Given the description of an element on the screen output the (x, y) to click on. 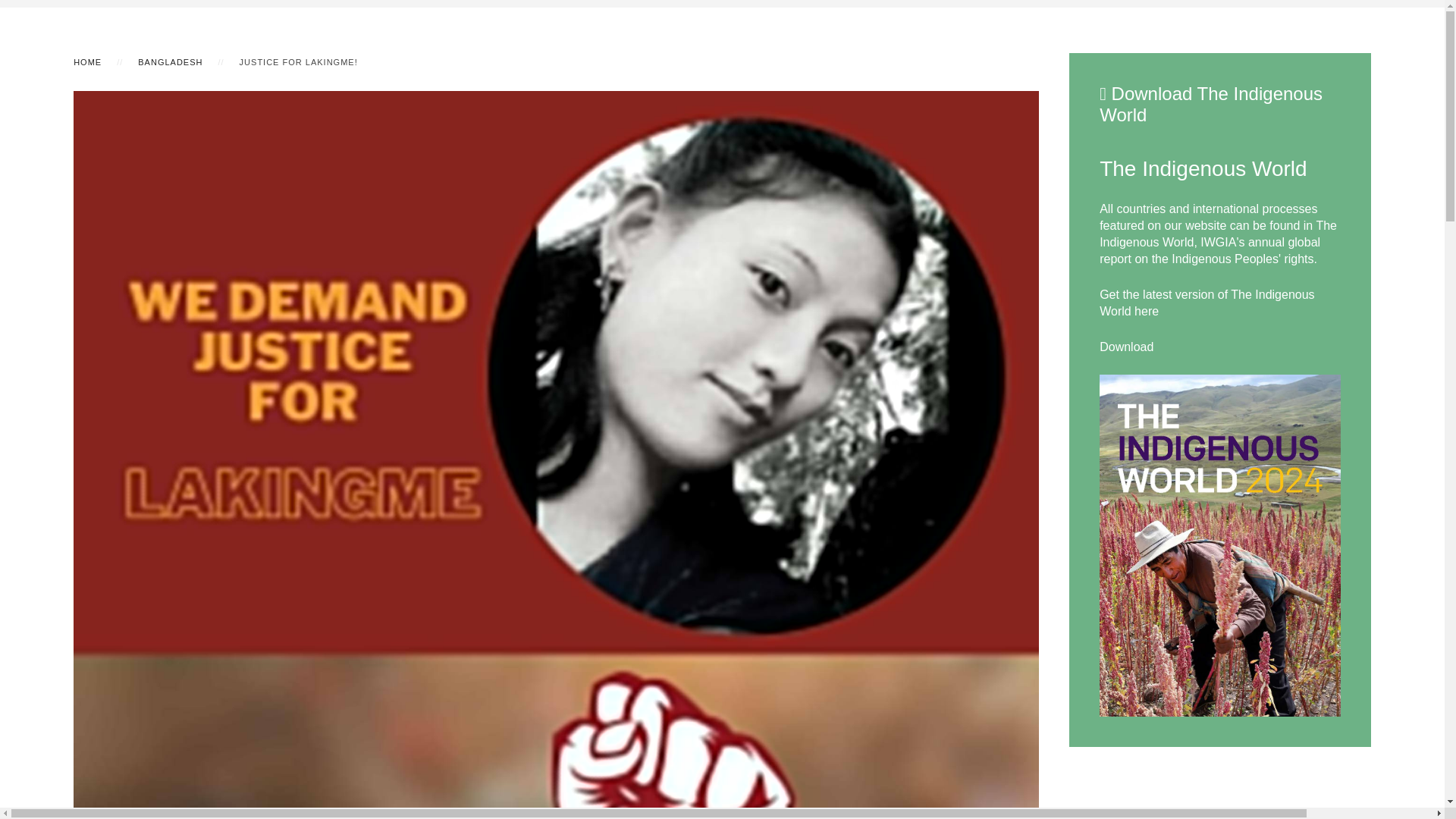
FOCUS AREAS (585, 68)
BANGLADESH (170, 62)
EN (1295, 72)
RESOURCES (736, 68)
HOME (87, 62)
SUPPORT US (1209, 69)
COUNTRIES (662, 68)
ES (1325, 72)
